Given the description of an element on the screen output the (x, y) to click on. 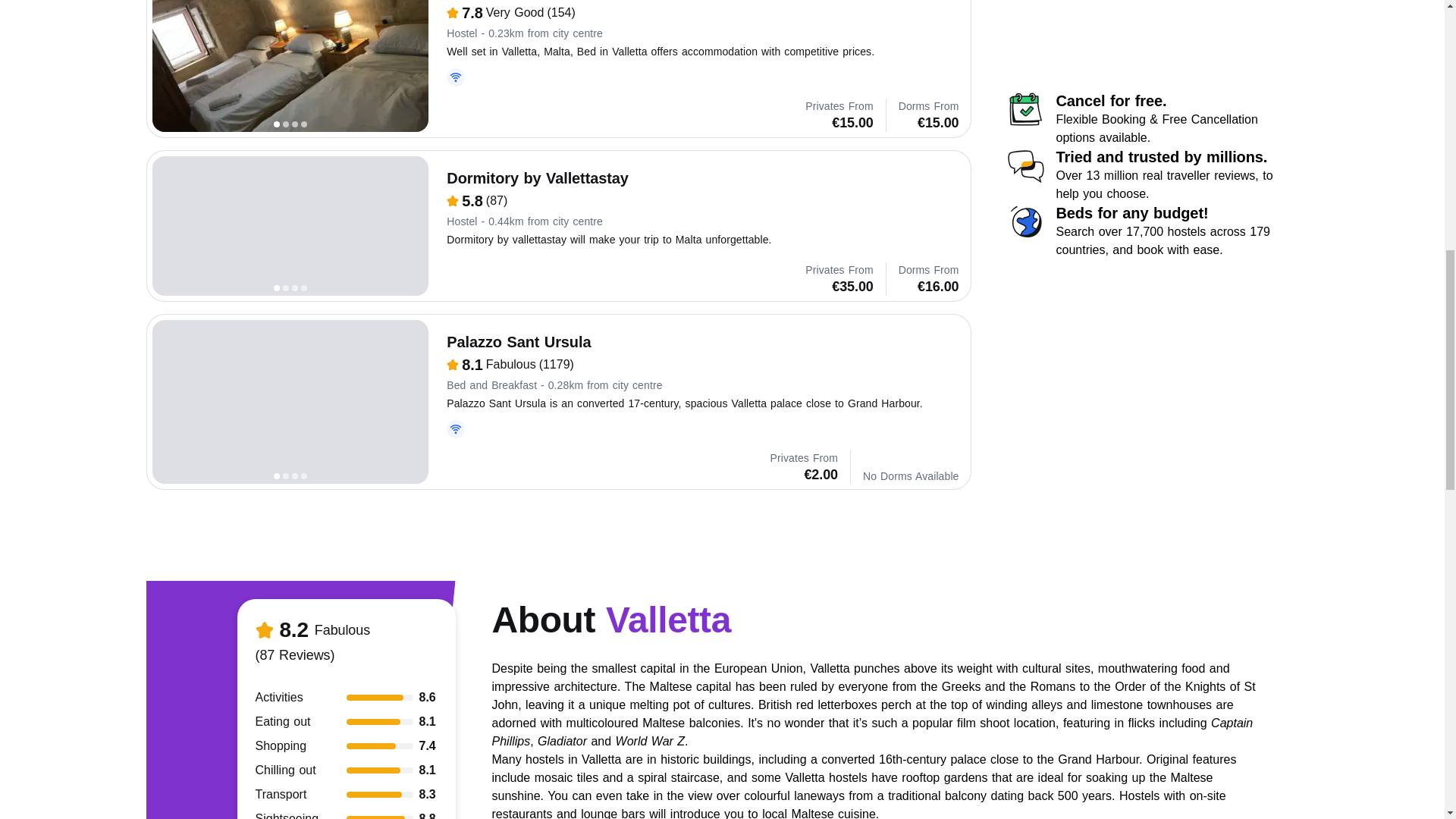
Palazzo Sant Ursula (289, 402)
Dormitory by Vallettastay (289, 225)
Bed in Valletta (289, 65)
